Given the description of an element on the screen output the (x, y) to click on. 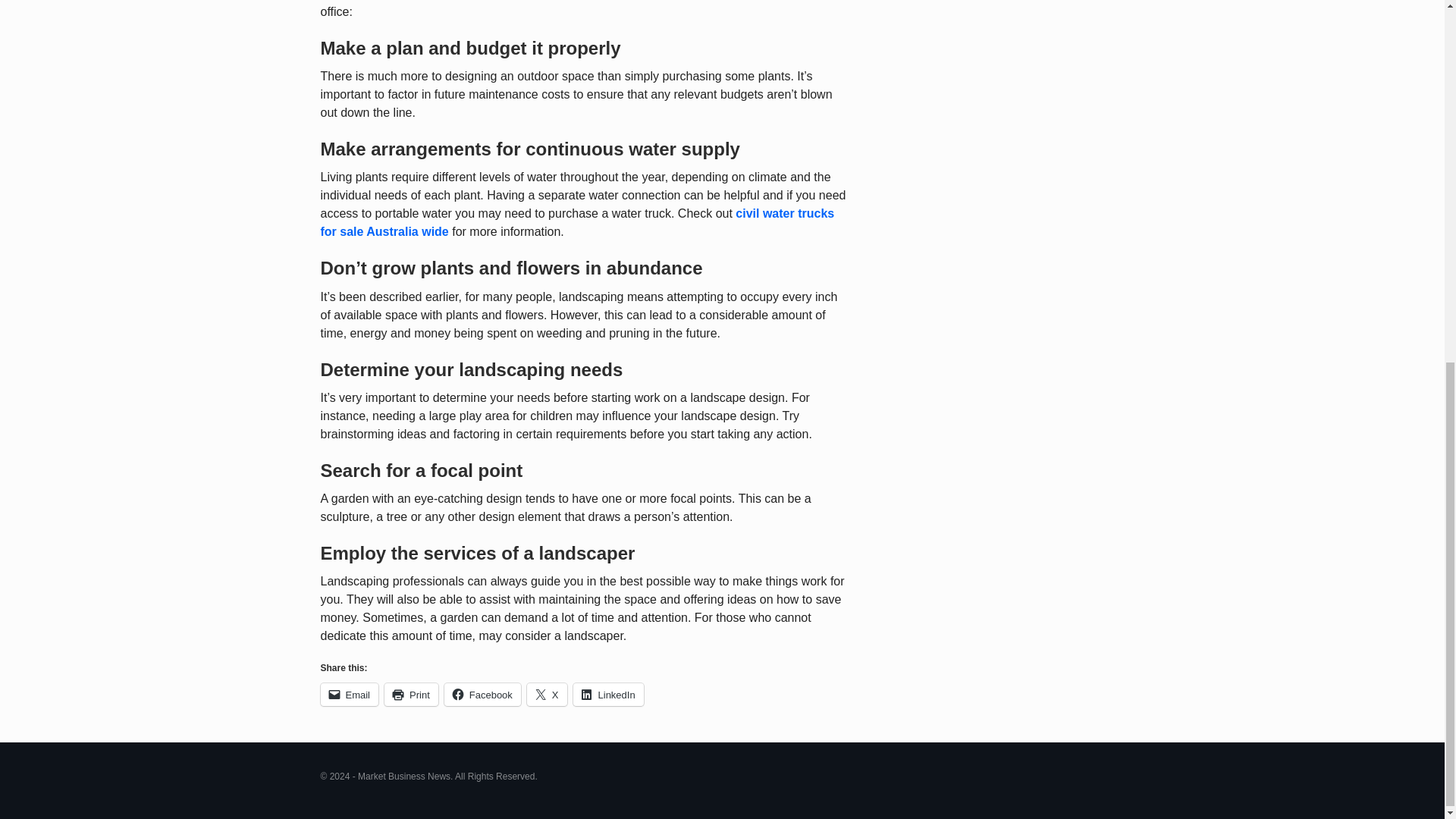
X (547, 694)
Click to print (411, 694)
Click to share on Facebook (482, 694)
civil water trucks for sale Australia wide (577, 222)
LinkedIn (608, 694)
Click to email a link to a friend (349, 694)
Click to share on X (547, 694)
Print (411, 694)
Click to share on LinkedIn (608, 694)
Facebook (482, 694)
